Given the description of an element on the screen output the (x, y) to click on. 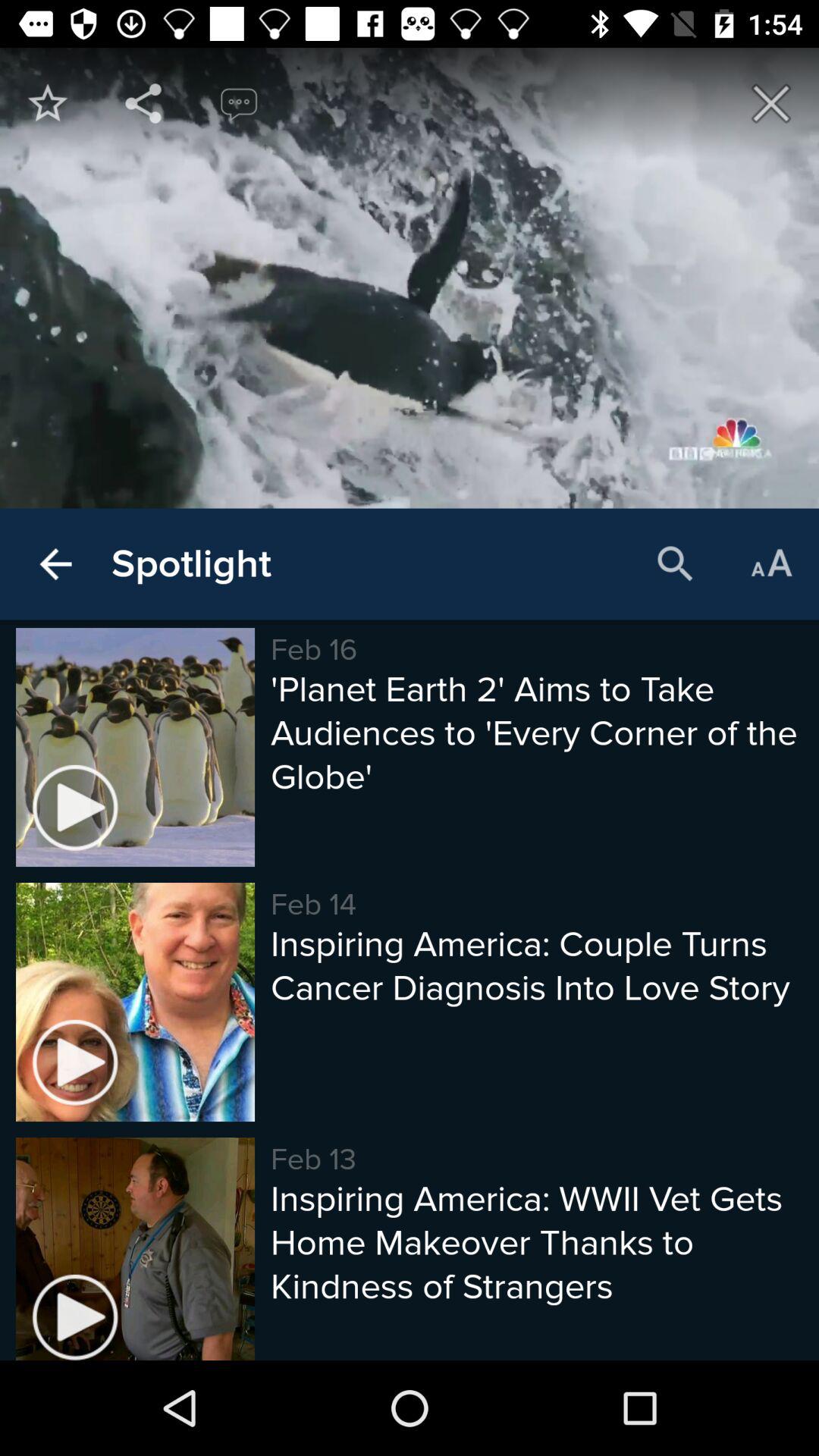
close this page (771, 103)
